Given the description of an element on the screen output the (x, y) to click on. 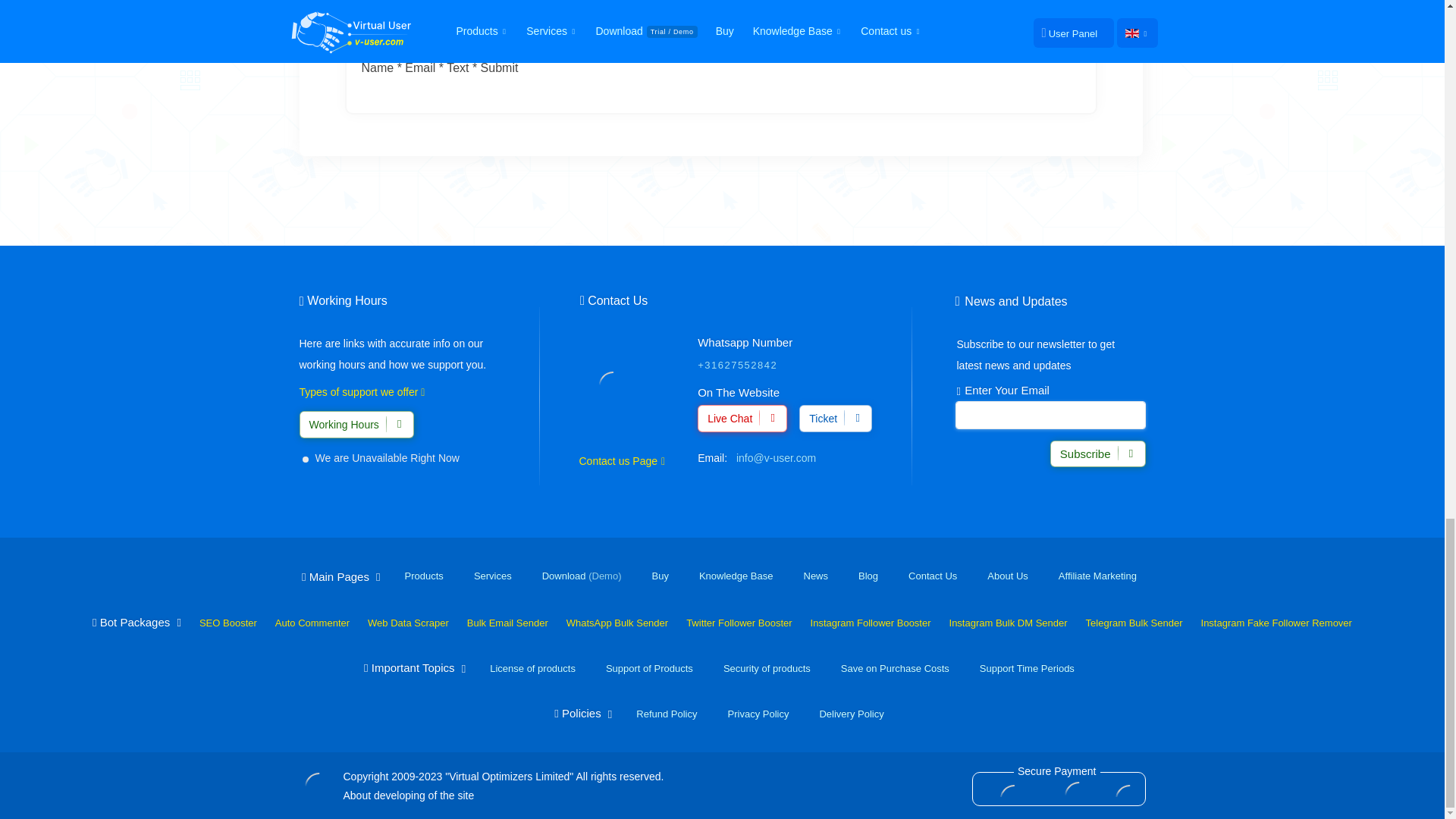
about us (509, 776)
PayPal (1078, 790)
PayPal (1013, 790)
Bitcoin (1123, 790)
about us (502, 795)
